Given the description of an element on the screen output the (x, y) to click on. 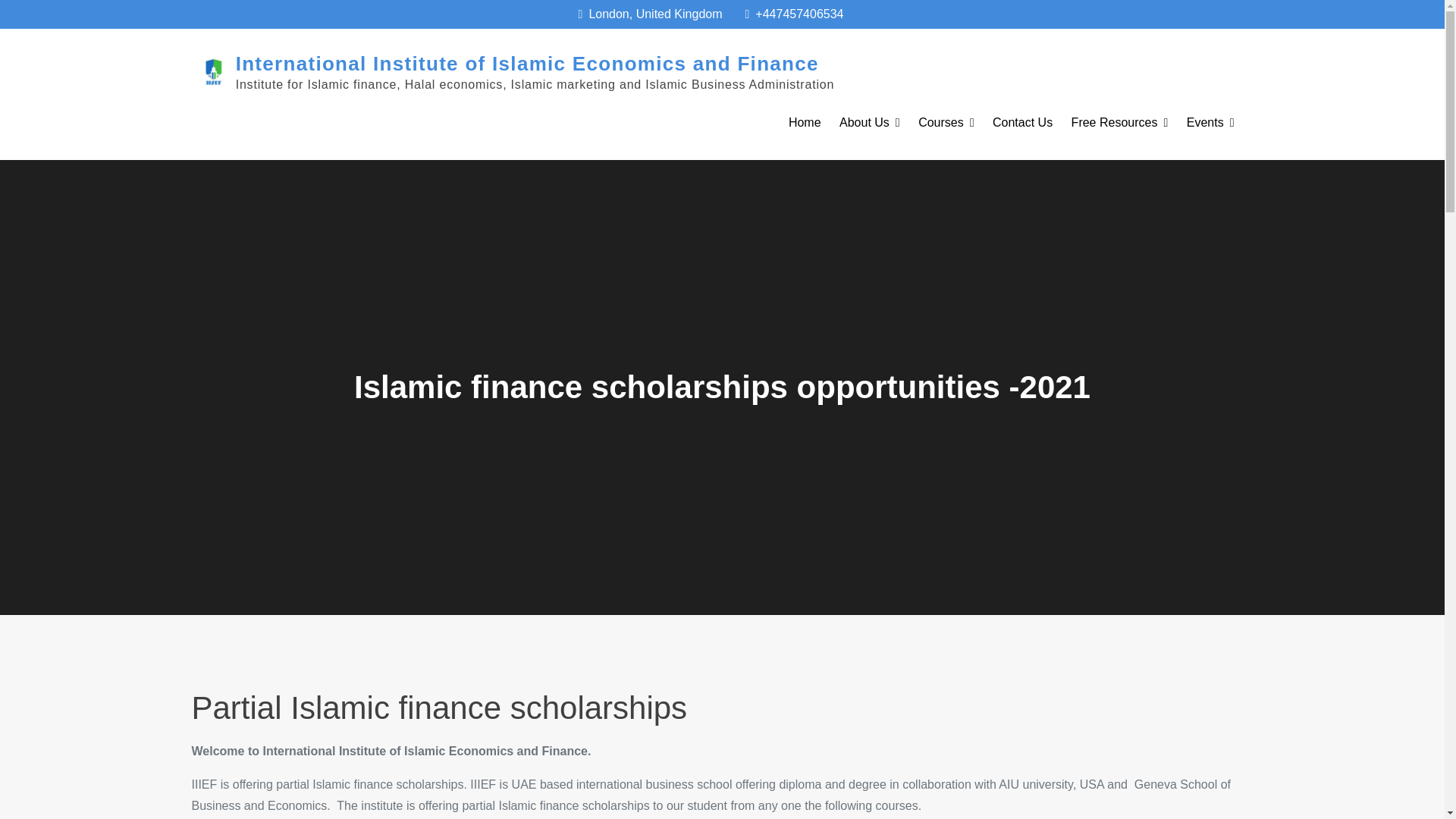
About Us (869, 122)
Home (804, 122)
Courses (946, 122)
International Institute of Islamic Economics and Finance (526, 63)
